Given the description of an element on the screen output the (x, y) to click on. 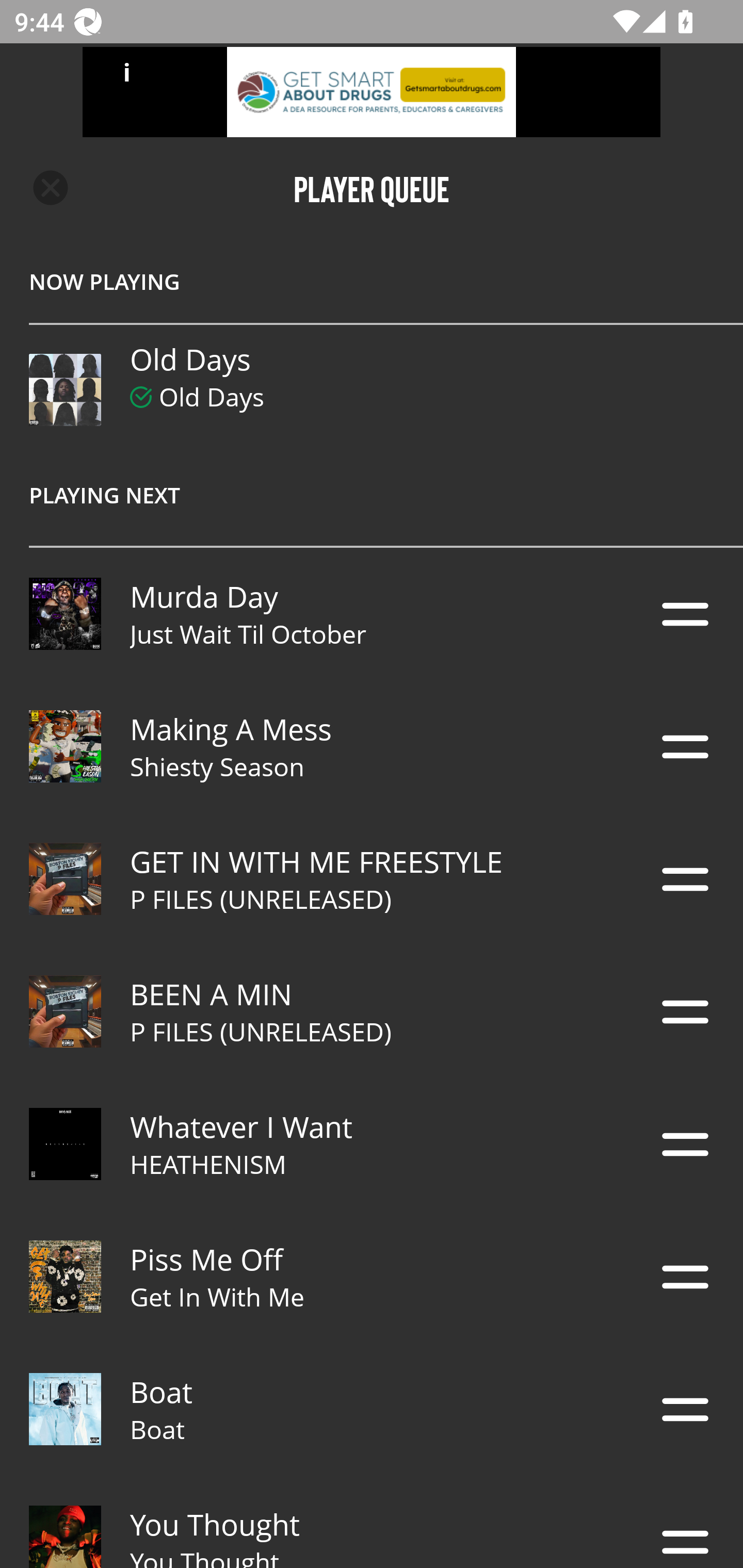
Navigate up (50, 187)
Description Whatever I Want HEATHENISM Description (371, 1144)
Description Piss Me Off Get In With Me Description (371, 1276)
Description Boat Boat Description (371, 1409)
Description You Thought You Thought Description (371, 1521)
